Given the description of an element on the screen output the (x, y) to click on. 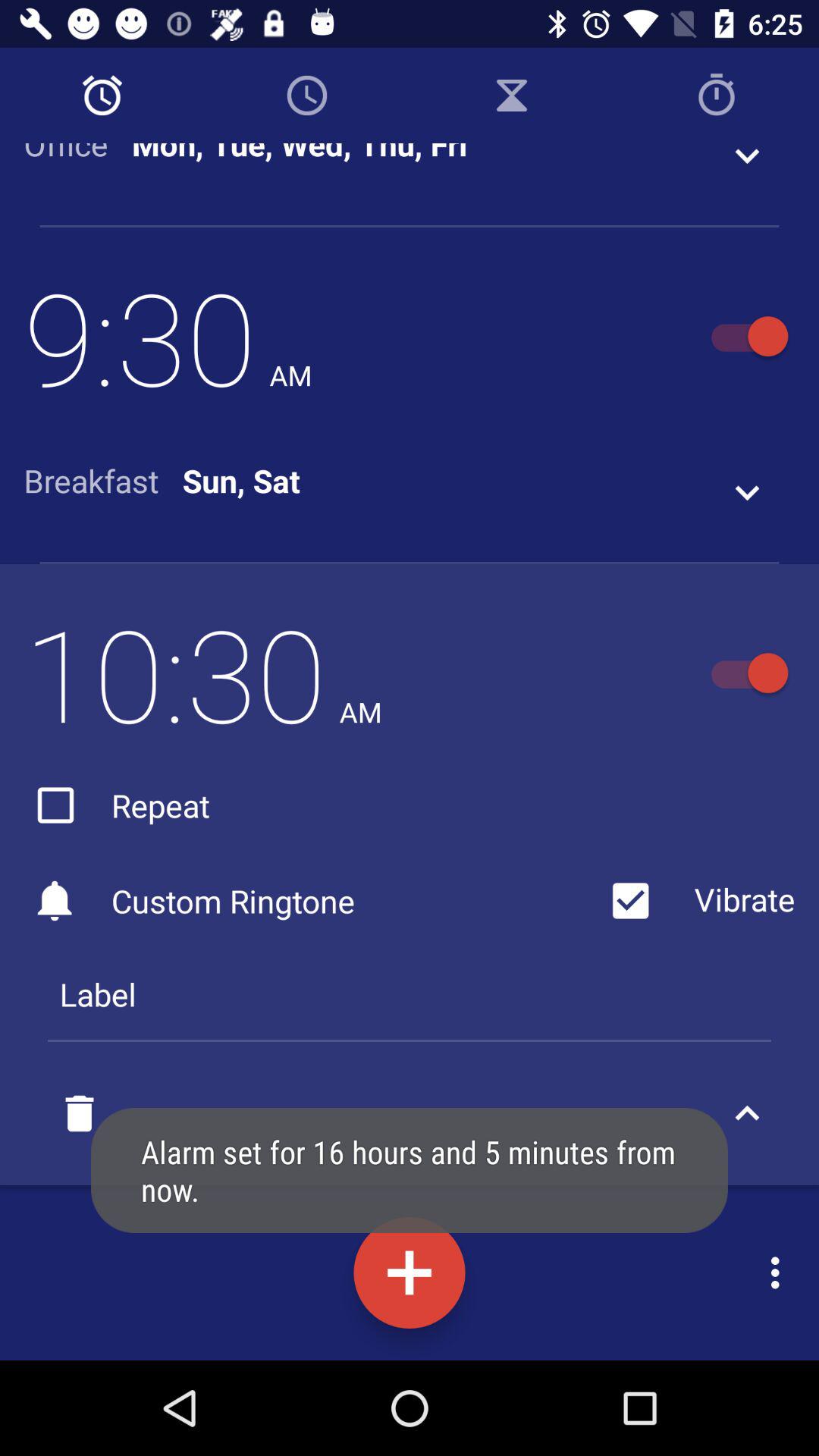
launch the icon next to the office (299, 154)
